Given the description of an element on the screen output the (x, y) to click on. 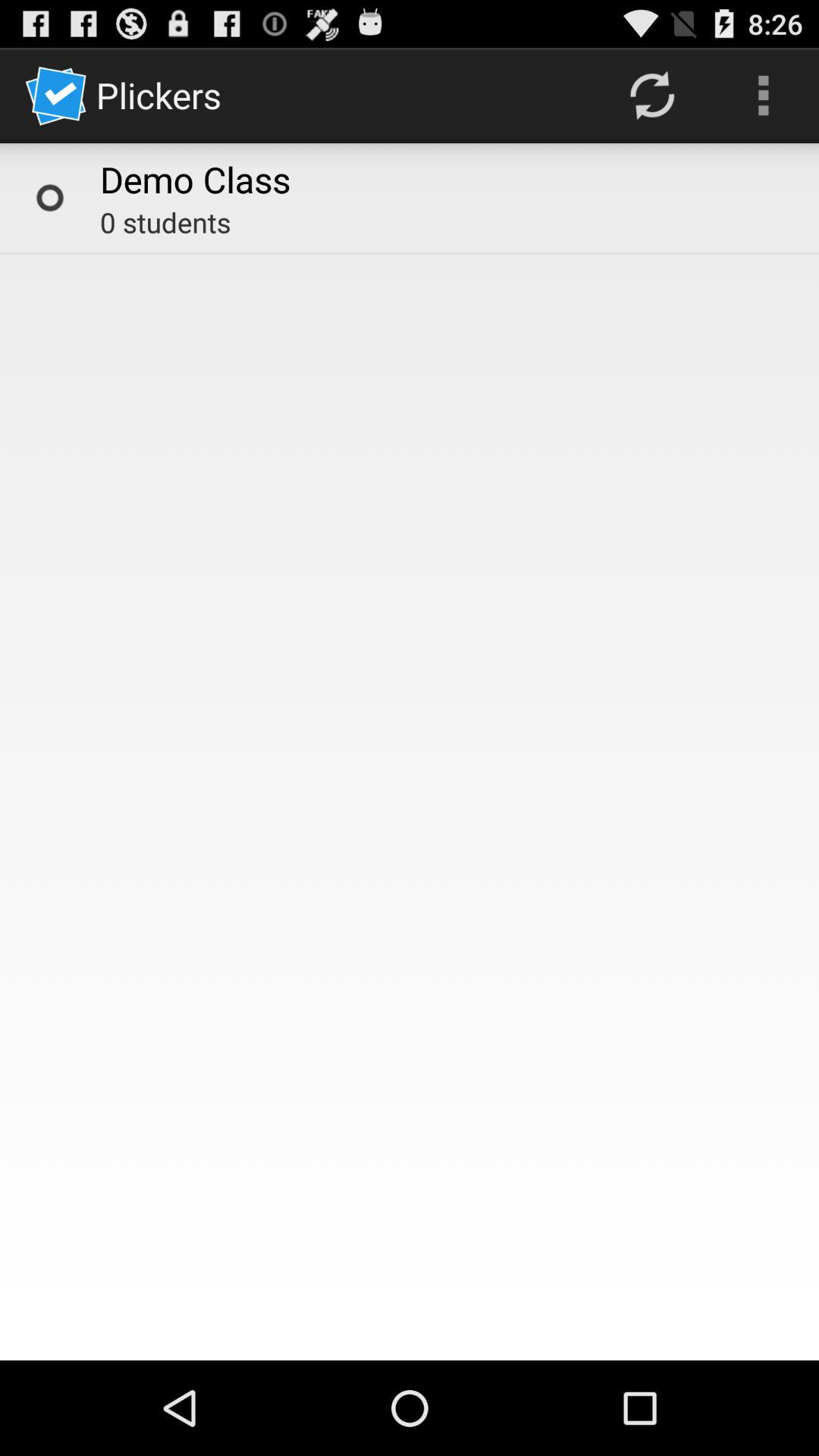
swipe to the demo class icon (195, 179)
